Given the description of an element on the screen output the (x, y) to click on. 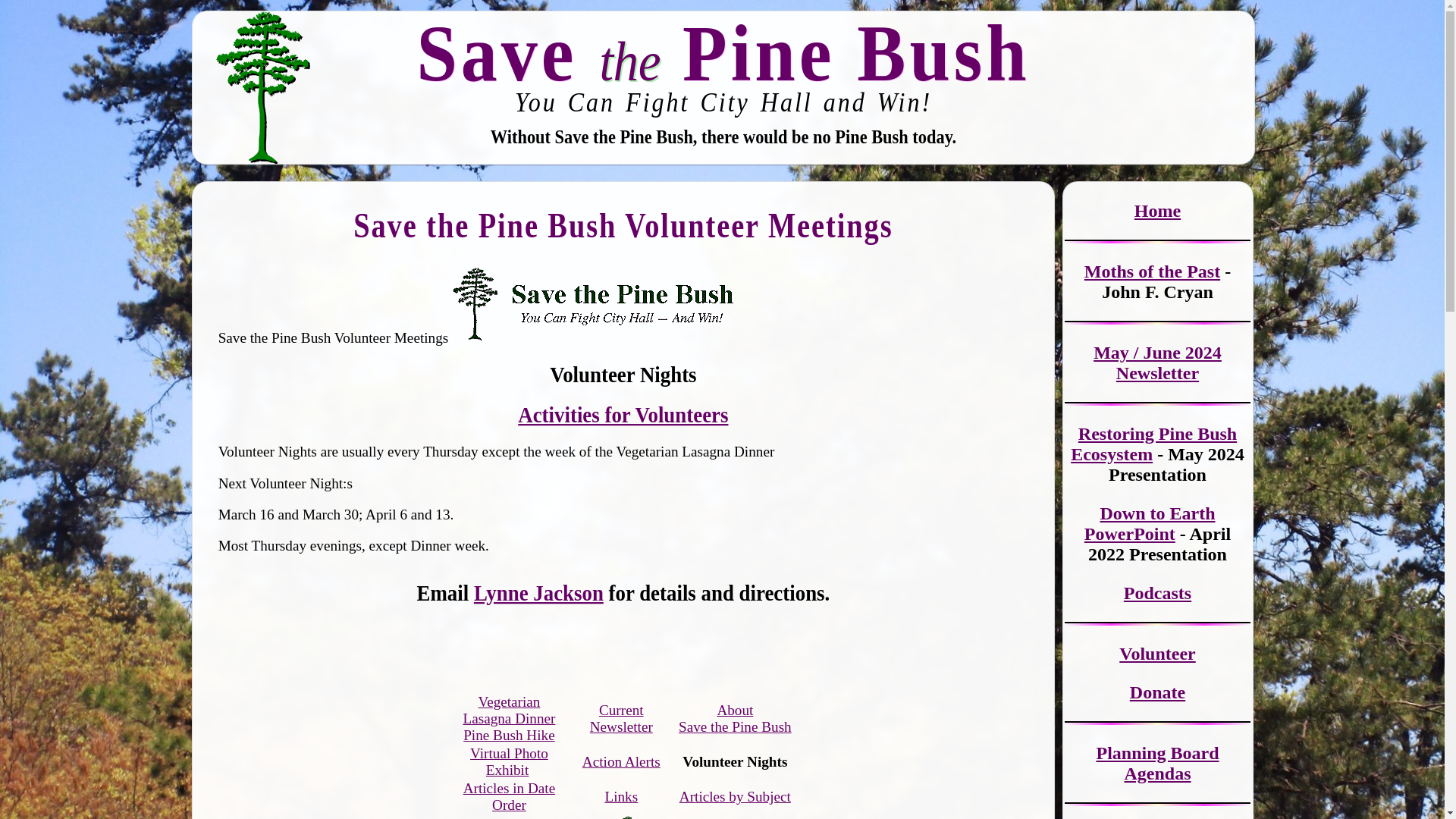
Activities for Volunteers (623, 413)
Vegetarian Lasagna Dinner (508, 709)
Moths of the Past (1152, 271)
Volunteer (1157, 653)
Restoring Pine Bush Ecosystem (1153, 444)
Articles in Date Order (508, 796)
Current Newsletter (620, 717)
Planning Board Agendas (1157, 762)
Save the Pine Bush Volunteer Meetings (622, 221)
Search (21, 7)
